Given the description of an element on the screen output the (x, y) to click on. 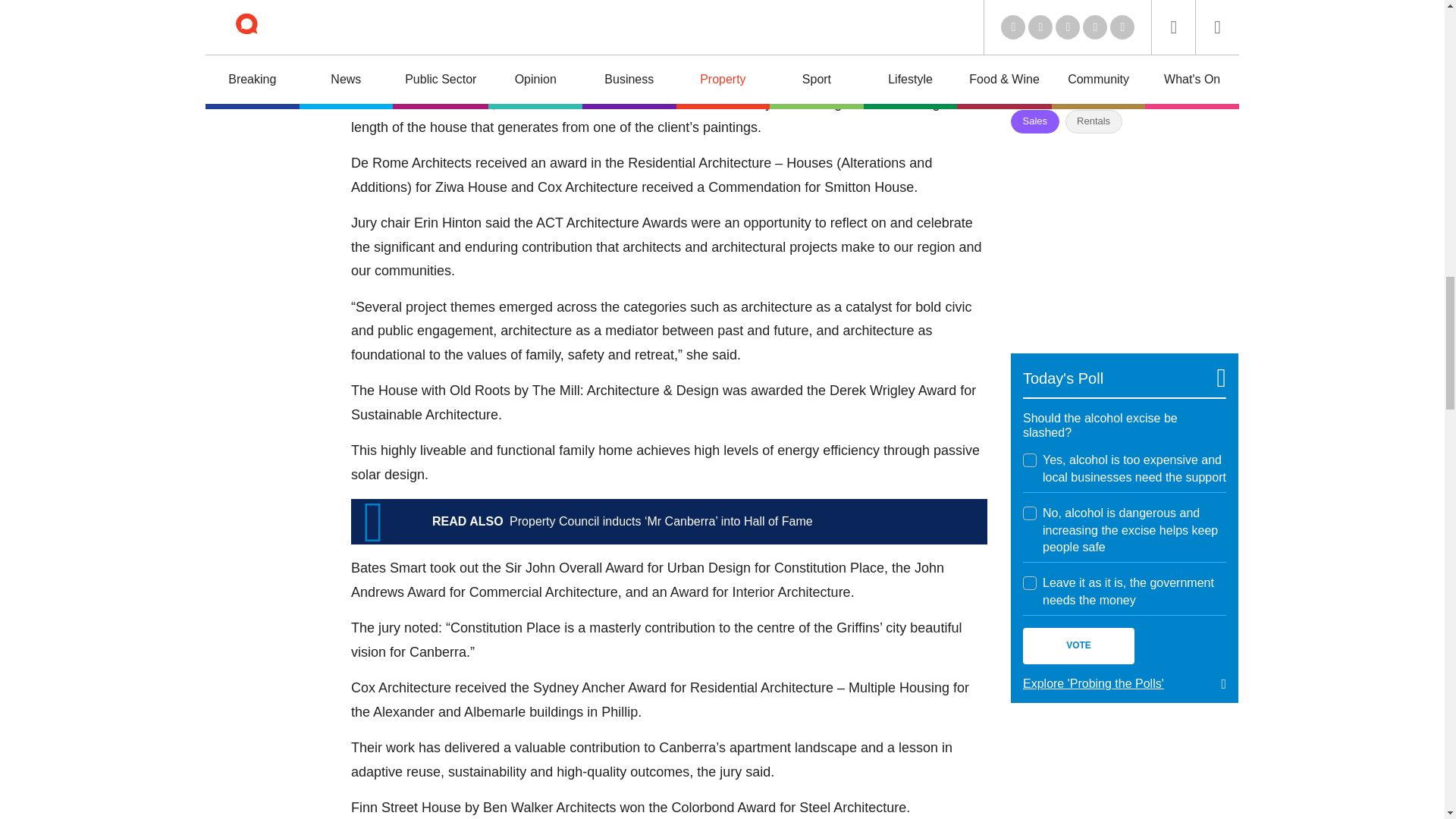
2047 (1029, 513)
   Vote    (1078, 646)
2048 (1029, 582)
Zango (1204, 86)
2046 (1029, 459)
Zango Sales (1124, 234)
